Given the description of an element on the screen output the (x, y) to click on. 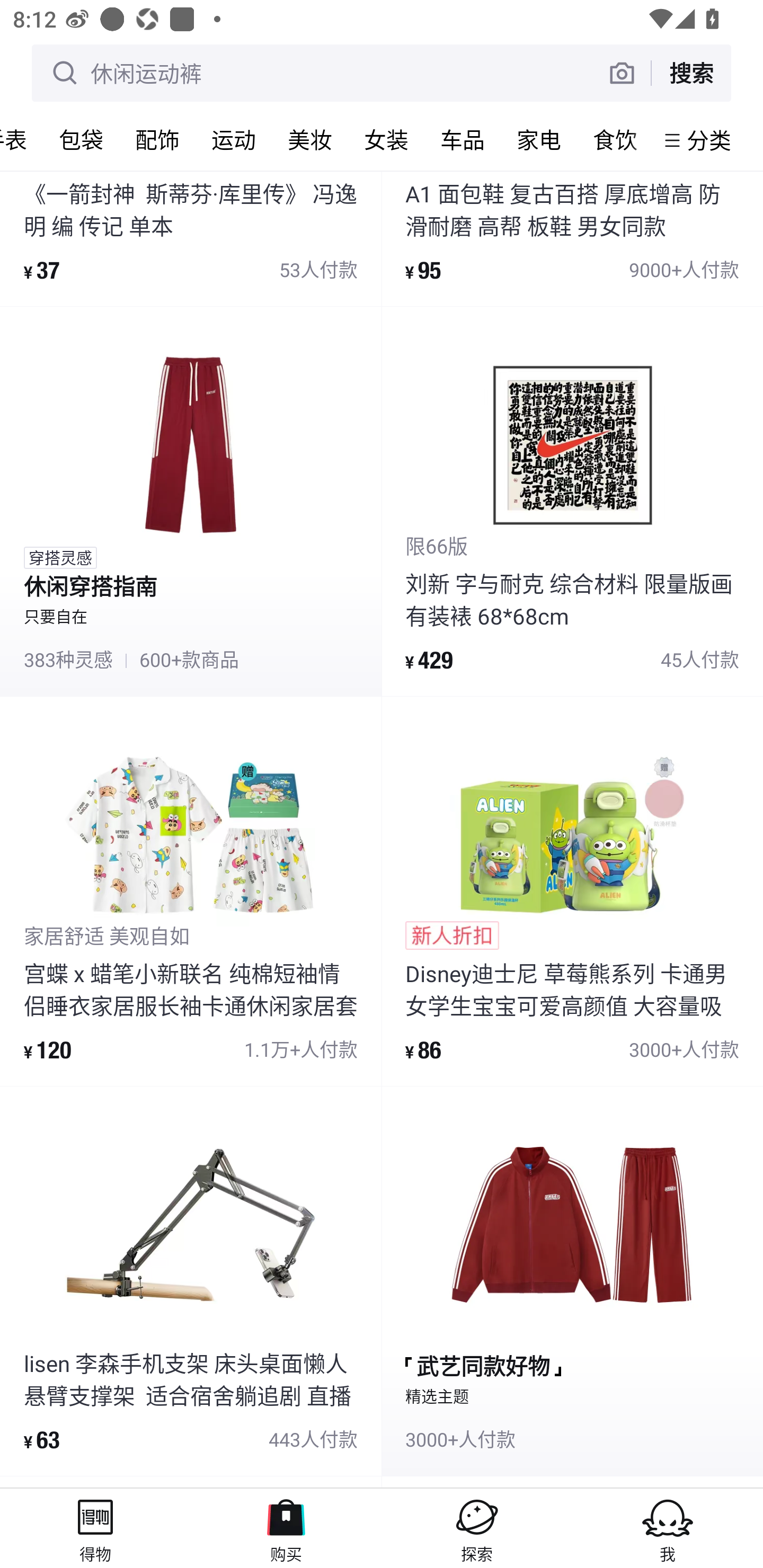
搜索 (690, 72)
包袋 (80, 139)
配饰 (157, 139)
运动 (233, 139)
美妆 (309, 139)
女装 (385, 139)
车品 (462, 139)
家电 (538, 139)
食饮 (614, 139)
分类 (708, 139)
穿搭灵感 休闲穿搭指南 只要自在 383种灵感 # 600+款商品 (190, 501)
武艺同款好物 精选主题 3000+人付款 (572, 1280)
得物 (95, 1528)
购买 (285, 1528)
探索 (476, 1528)
我 (667, 1528)
